Given the description of an element on the screen output the (x, y) to click on. 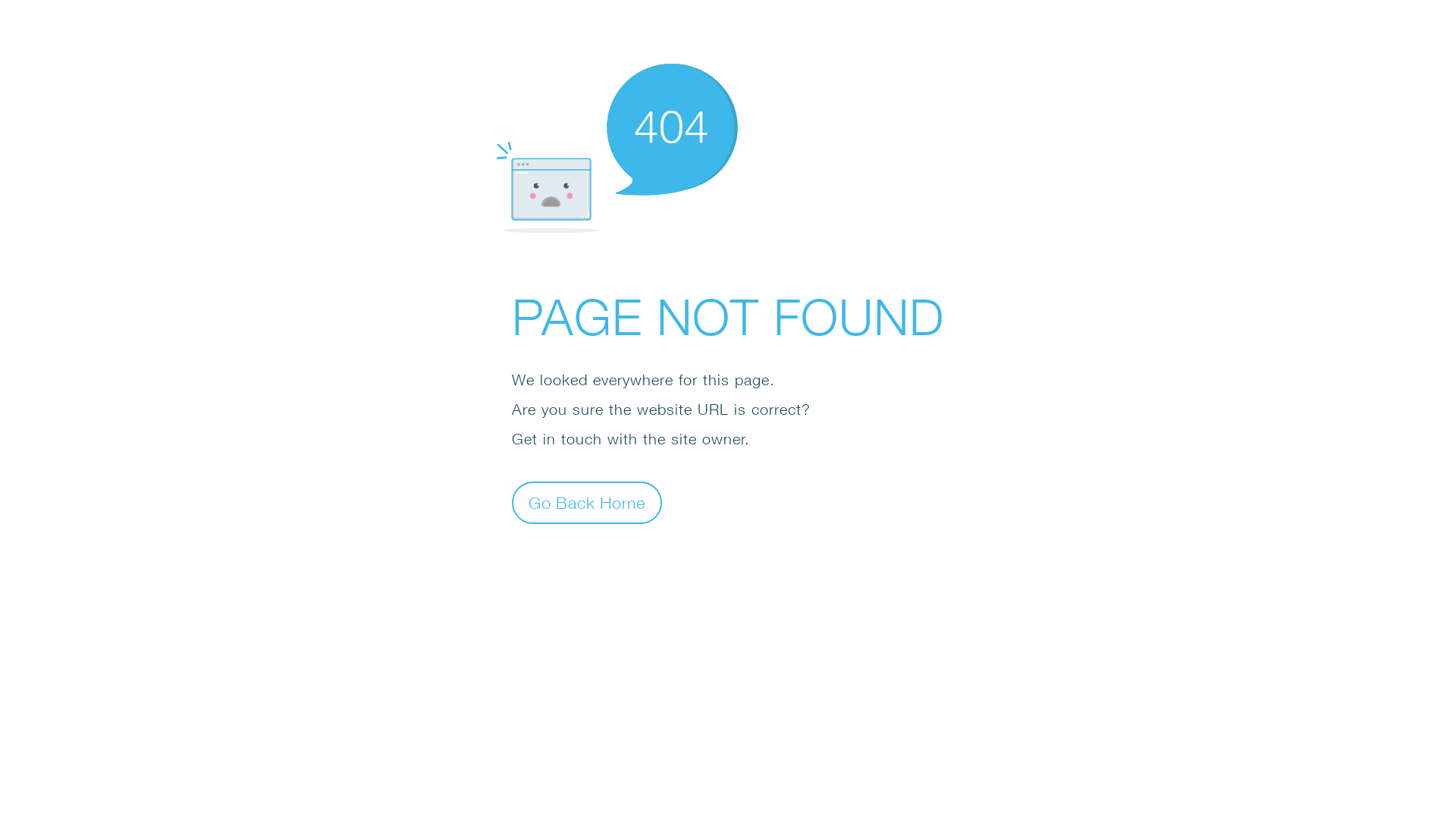
Go Back Home Element type: text (586, 502)
